Given the description of an element on the screen output the (x, y) to click on. 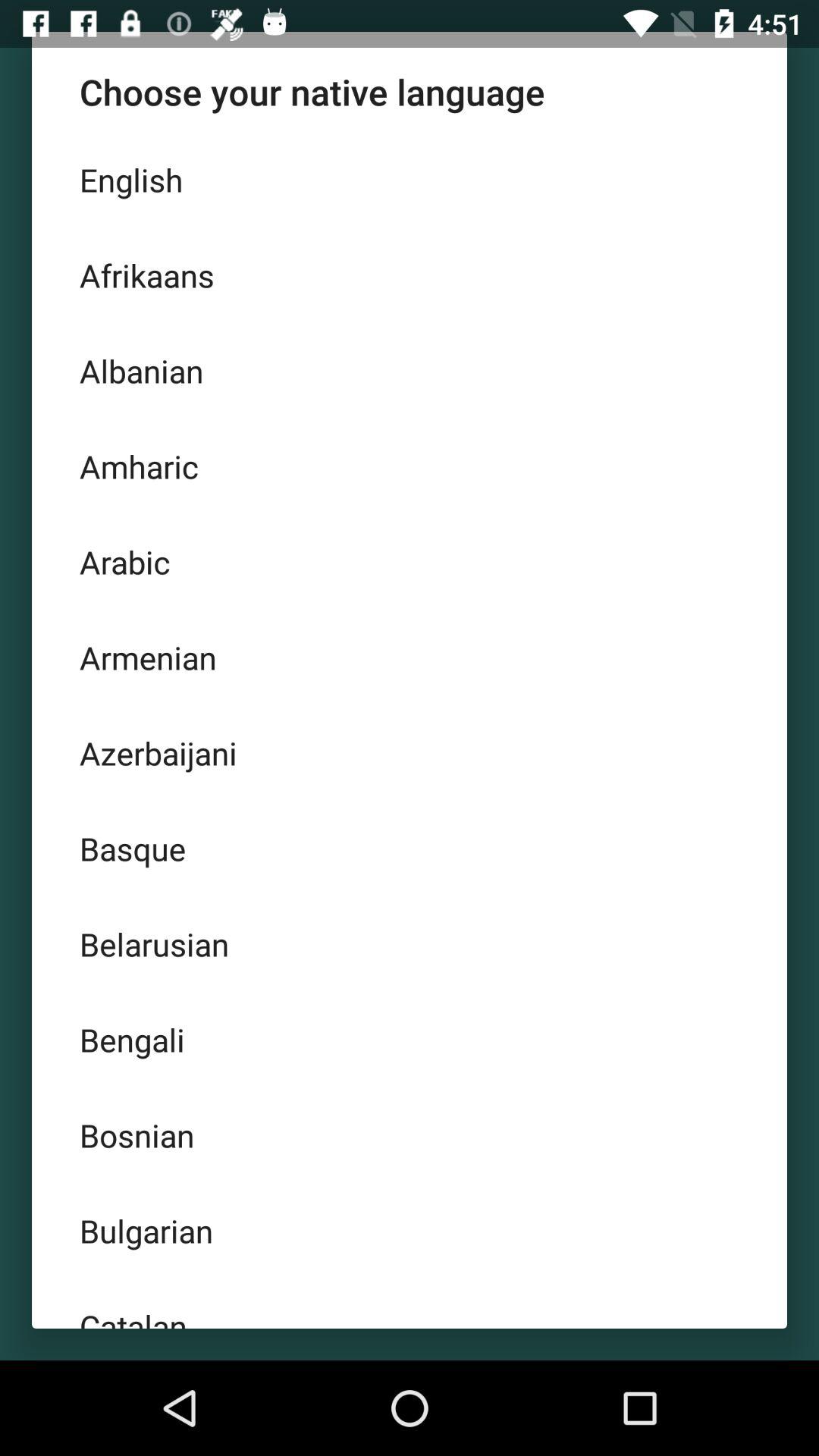
swipe until english item (409, 179)
